Given the description of an element on the screen output the (x, y) to click on. 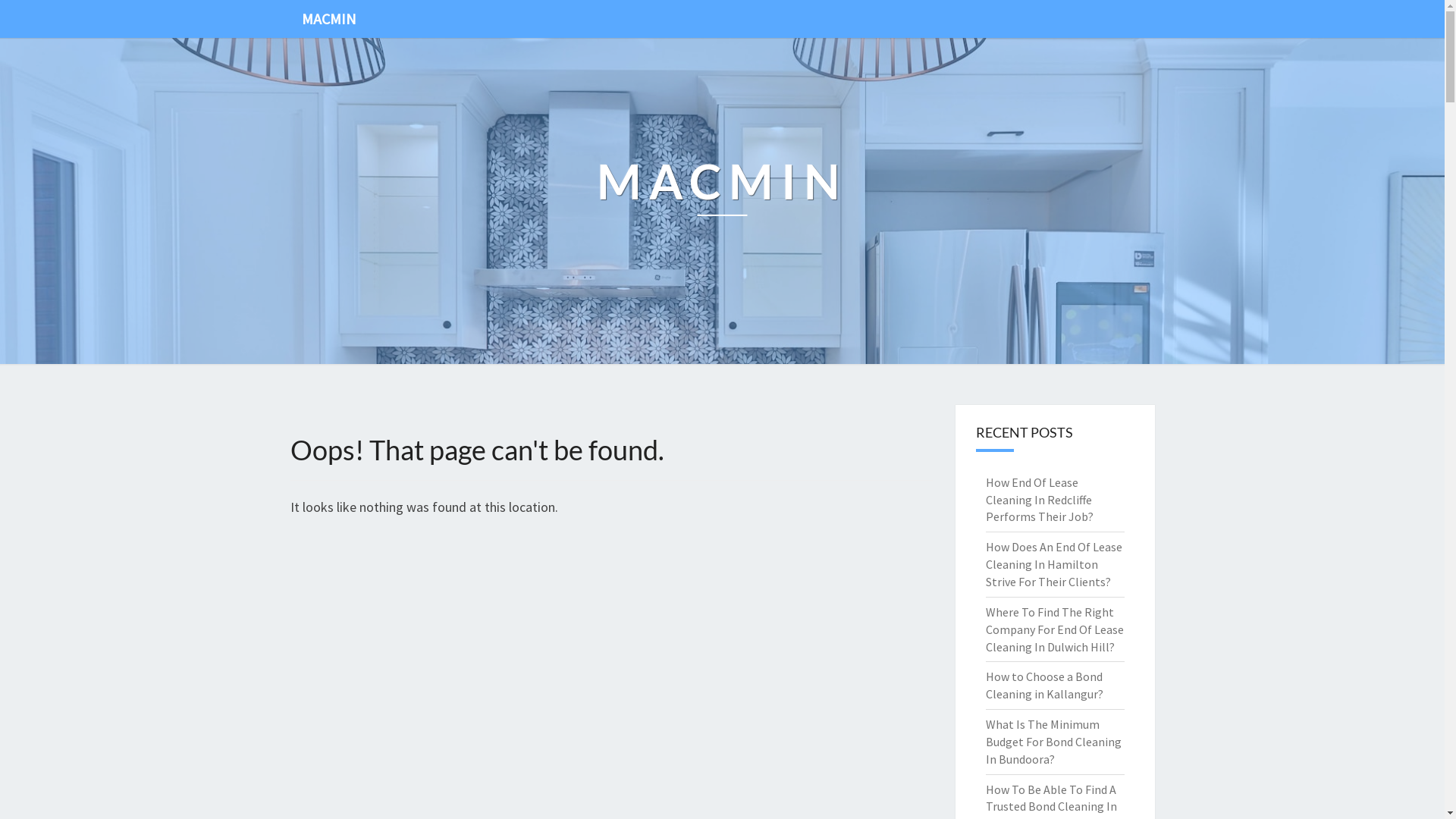
How End Of Lease Cleaning In Redcliffe Performs Their Job? Element type: text (1039, 499)
MACMIN Element type: text (328, 18)
How to Choose a Bond Cleaning in Kallangur? Element type: text (1044, 684)
MACMIN Element type: text (721, 200)
What Is The Minimum Budget For Bond Cleaning In Bundoora? Element type: text (1053, 741)
